Given the description of an element on the screen output the (x, y) to click on. 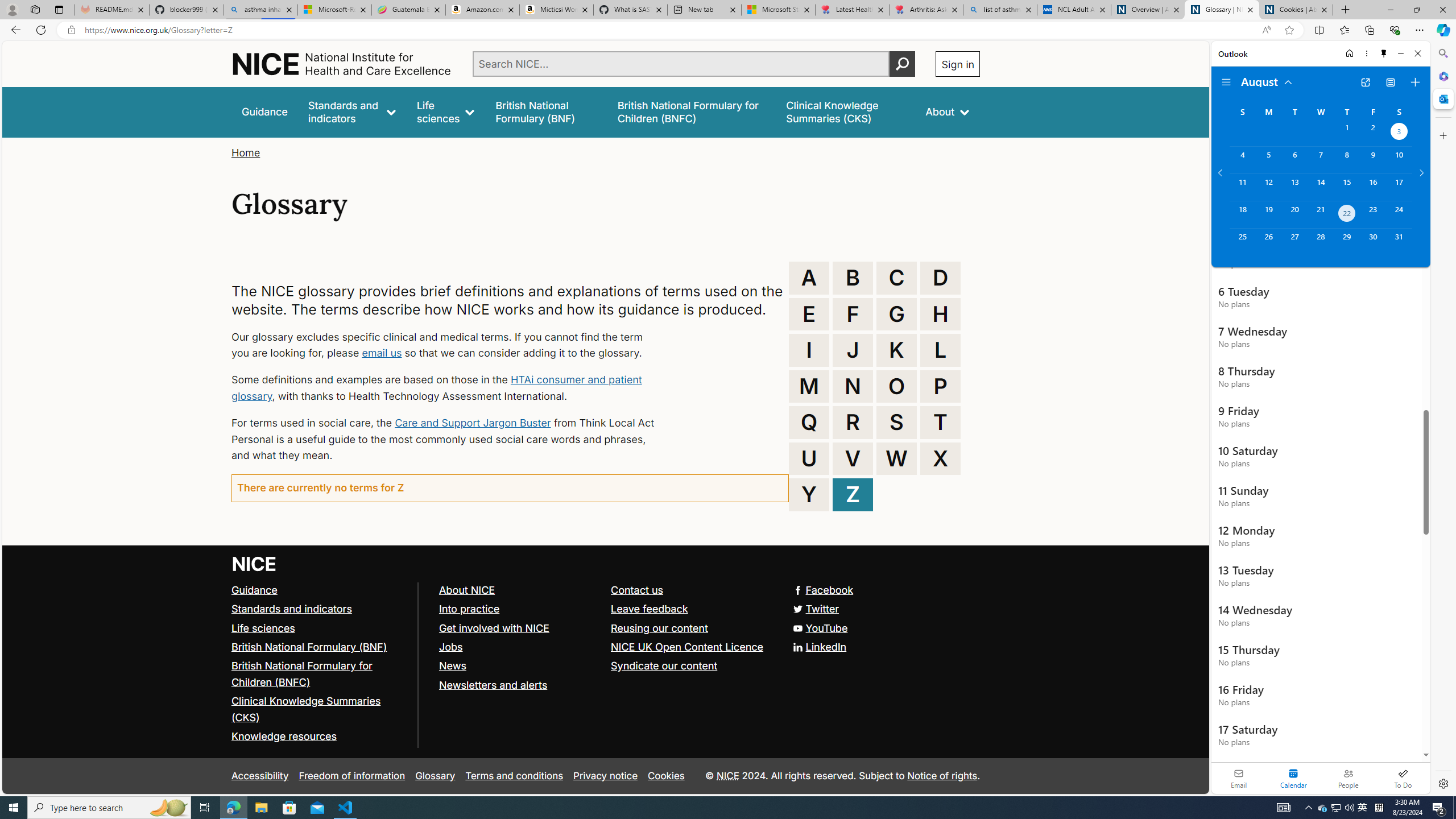
B (852, 277)
Contact us (692, 589)
Get involved with NICE (518, 628)
G (896, 313)
Syndicate our content (692, 665)
Friday, August 23, 2024.  (1372, 214)
Friday, August 2, 2024.  (1372, 132)
Privacy notice (605, 775)
X (940, 458)
